Given the description of an element on the screen output the (x, y) to click on. 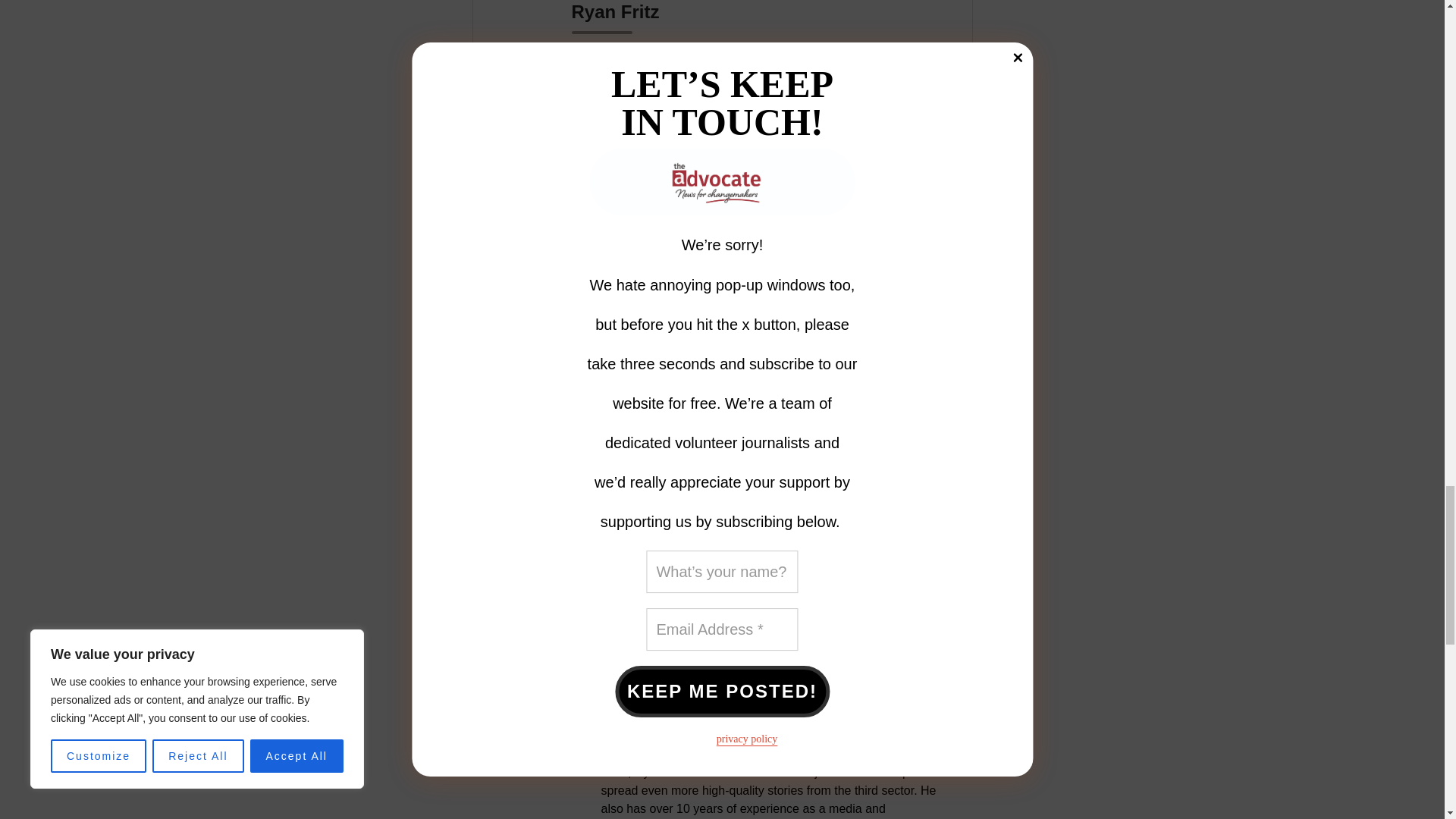
Ryan Fritz (613, 356)
Ryan Fritz (638, 690)
View all posts (623, 567)
Ryan Fritz (613, 356)
View all posts (623, 567)
